Given the description of an element on the screen output the (x, y) to click on. 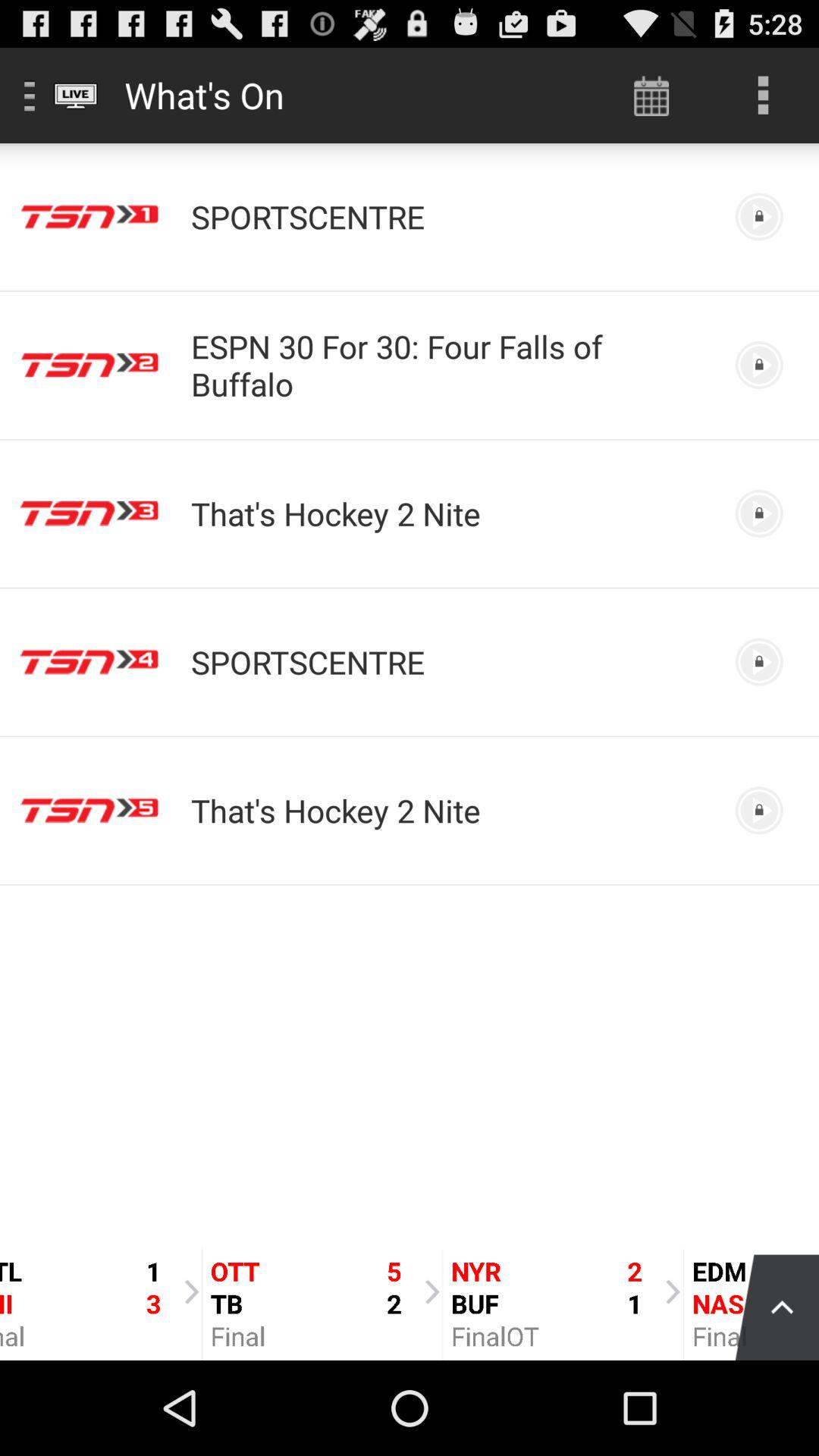
change the day (651, 95)
